Given the description of an element on the screen output the (x, y) to click on. 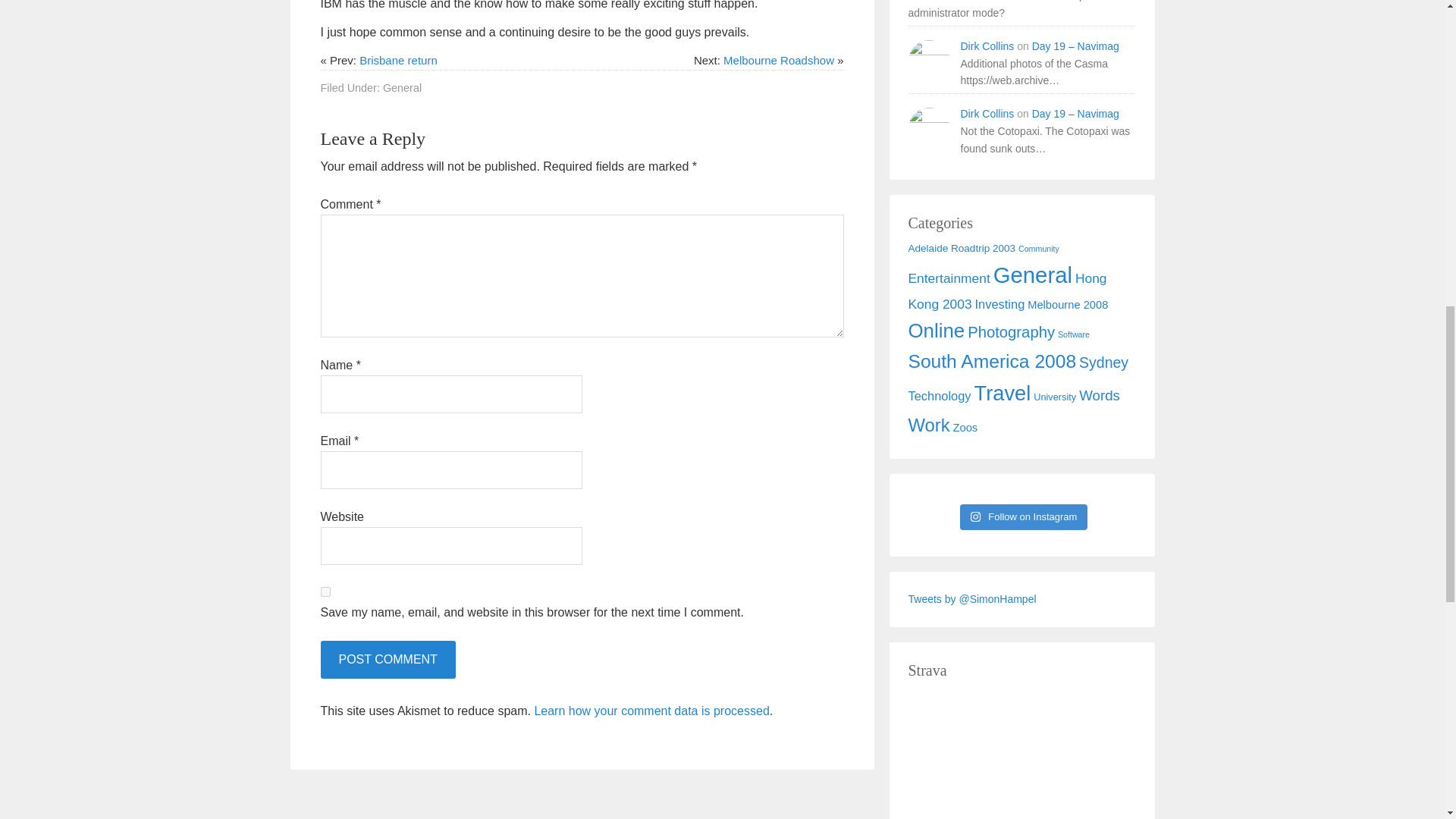
Dirk Collins (986, 46)
Post Comment (387, 659)
Melbourne Roadshow (778, 60)
Learn how your comment data is processed (651, 710)
Brisbane return (398, 60)
Dirk Collins (986, 113)
General (402, 87)
Post Comment (387, 659)
yes (325, 592)
